Given the description of an element on the screen output the (x, y) to click on. 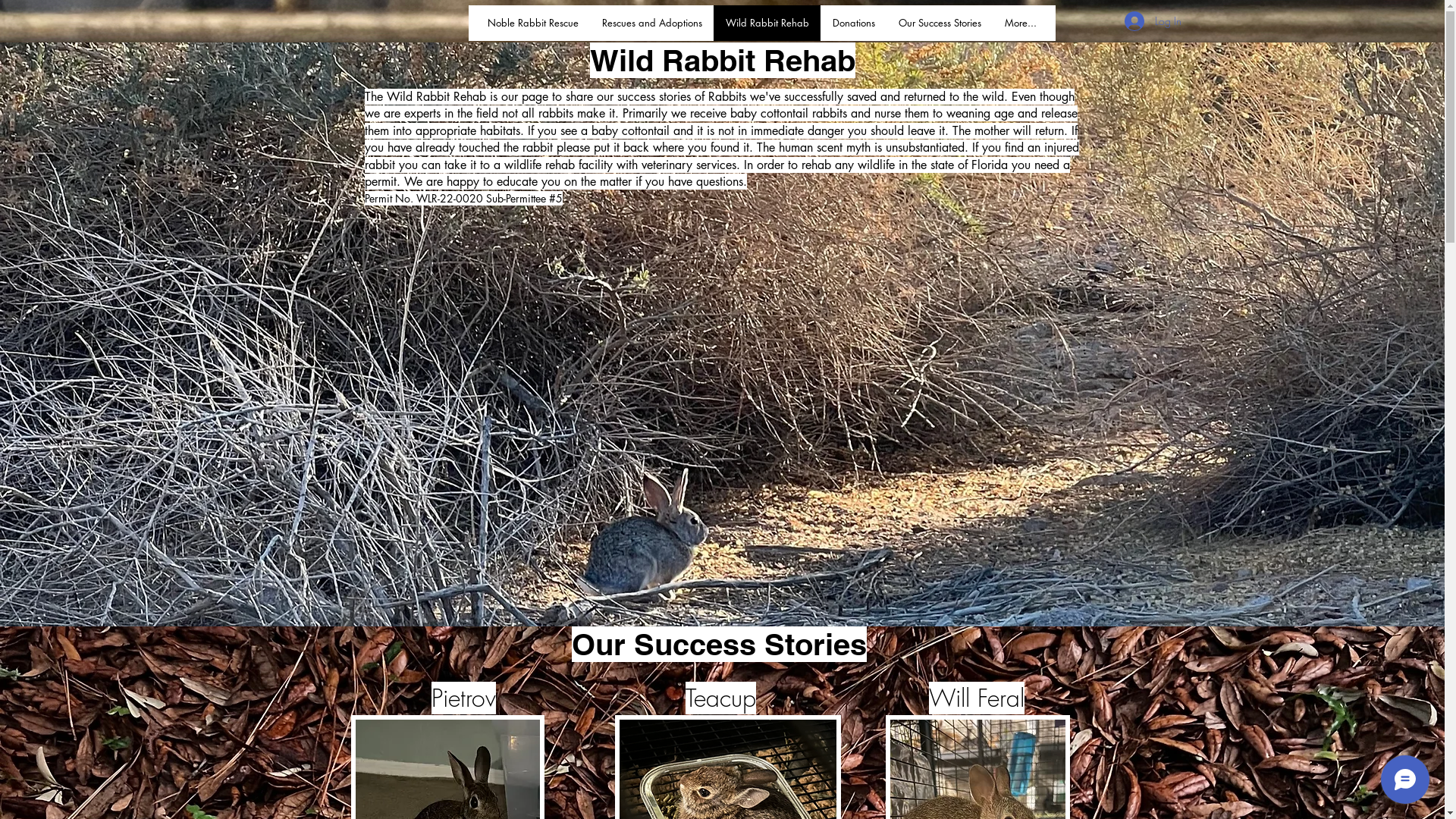
Rescues and Adoptions Element type: text (651, 22)
Wild Rabbit Rehab Element type: text (766, 22)
Donations Element type: text (853, 22)
Log In Element type: text (1152, 20)
Noble Rabbit Rescue Element type: text (532, 22)
Our Success Stories Element type: text (939, 22)
